Given the description of an element on the screen output the (x, y) to click on. 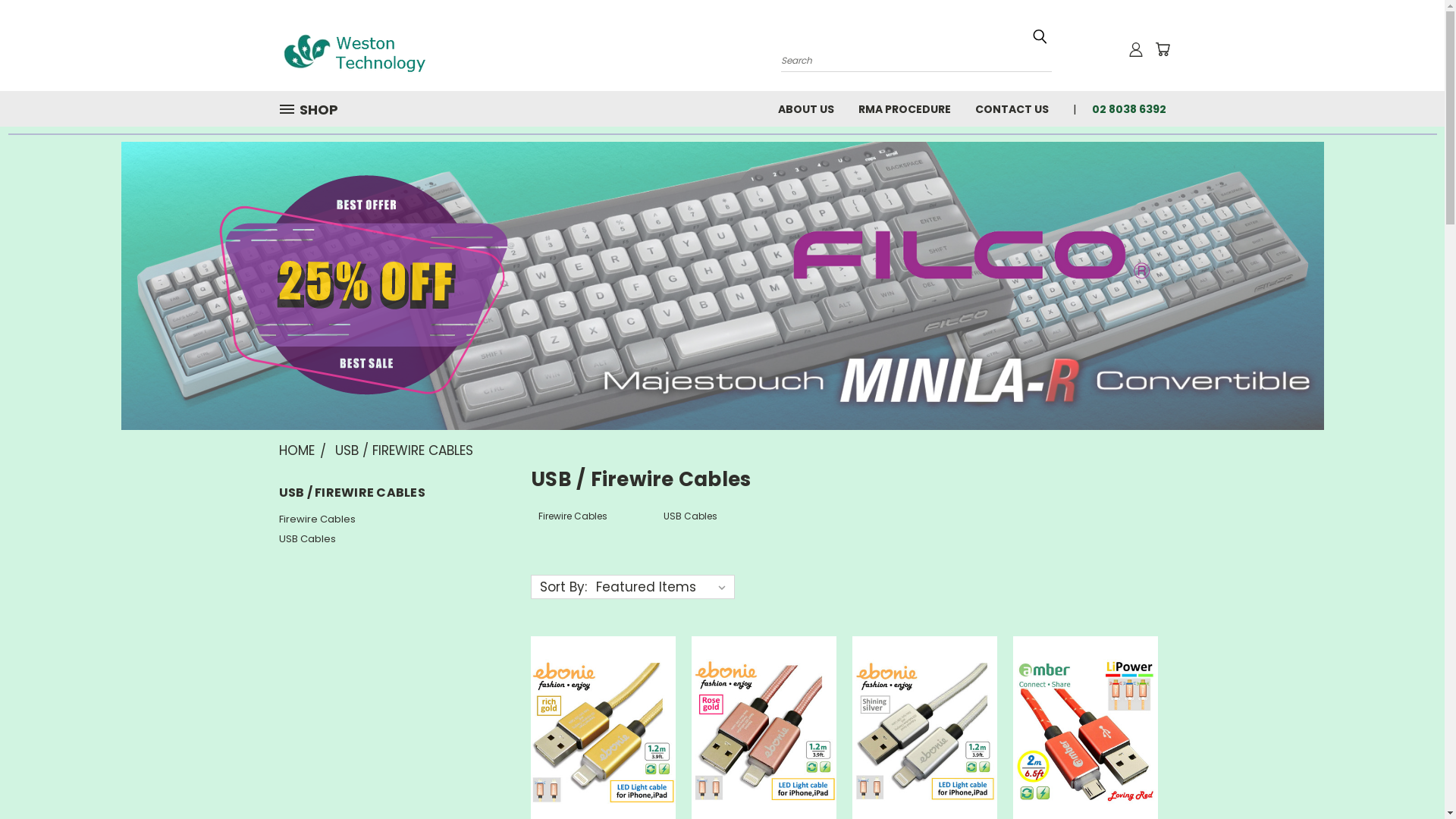
USB Cables Element type: text (385, 539)
Submit Search Element type: hover (1039, 35)
RMA PROCEDURE Element type: text (904, 108)
CONTACT US Element type: text (1011, 108)
Firewire Cables Element type: text (593, 523)
SHOP Element type: text (314, 109)
ABOUT US Element type: text (805, 108)
Weston Technology Australia Pty Ltd Element type: hover (373, 44)
USB Cables Element type: text (718, 523)
02 8038 6392 Element type: text (1122, 108)
HOME Element type: text (296, 450)
Firewire Cables Element type: text (385, 519)
User Toolbox Element type: hover (1135, 48)
